Given the description of an element on the screen output the (x, y) to click on. 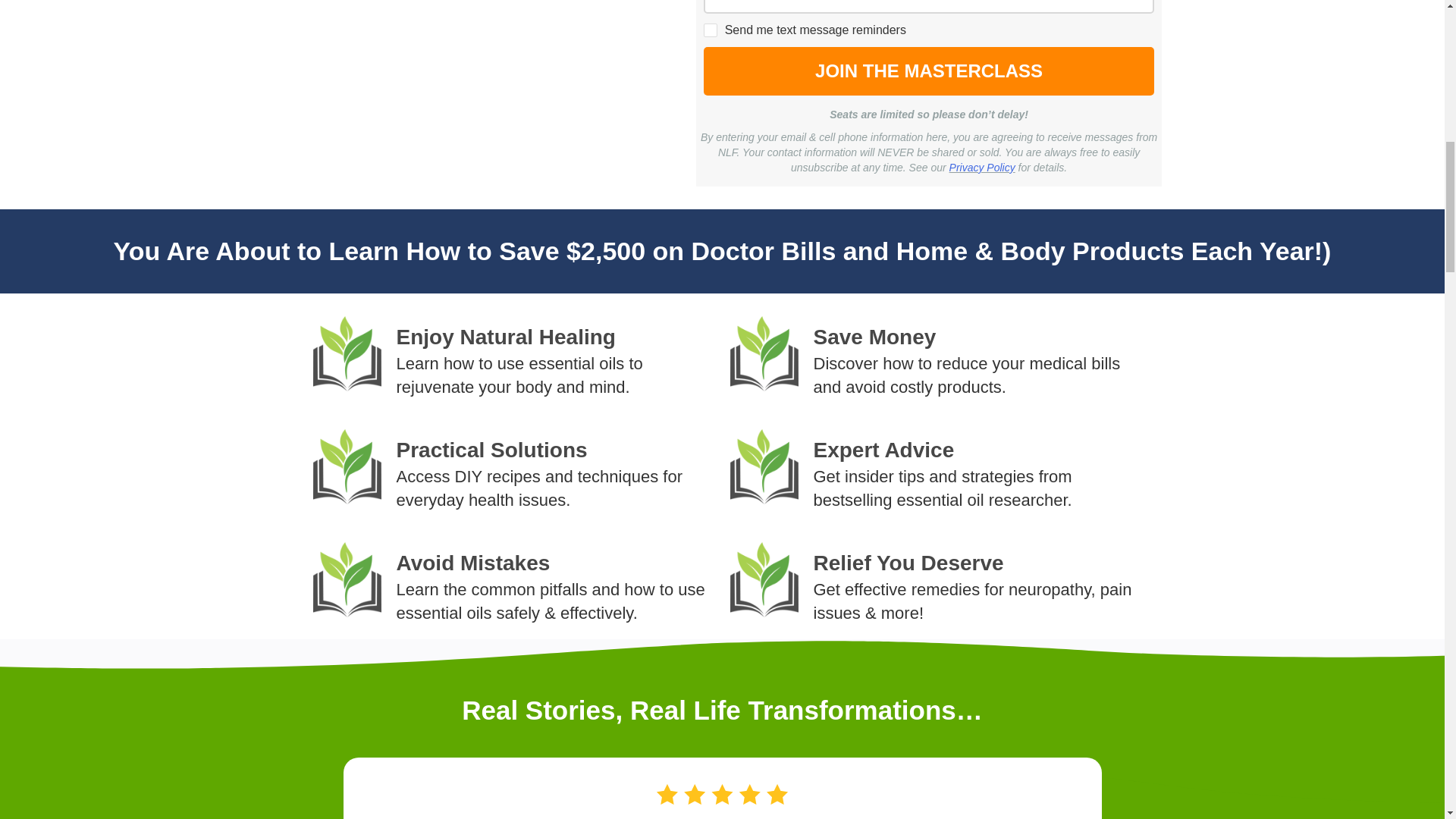
Privacy Policy (981, 167)
JOIN THE MASTERCLASS (928, 70)
